Given the description of an element on the screen output the (x, y) to click on. 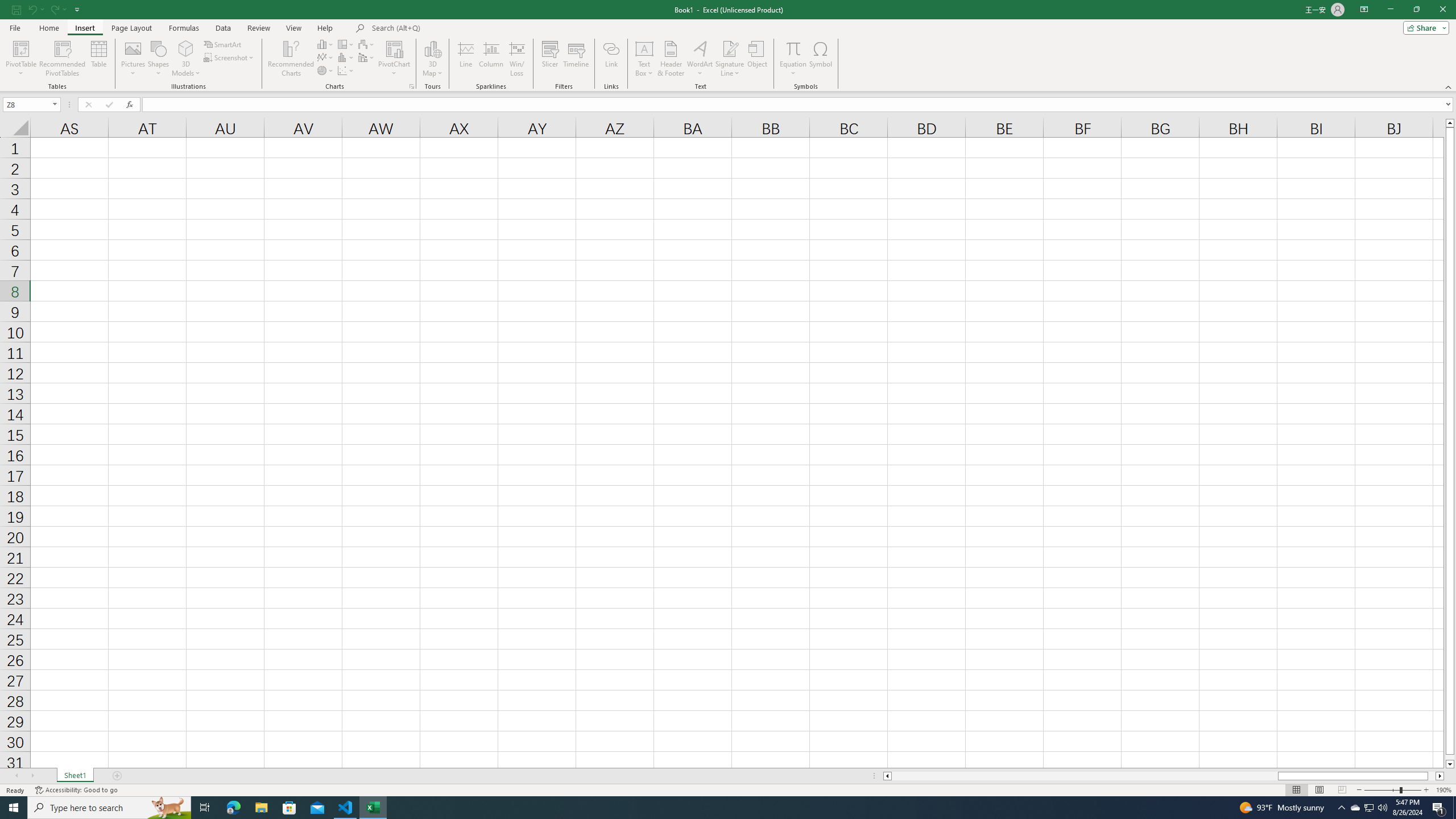
Insert Pie or Doughnut Chart (325, 69)
Win/Loss (516, 58)
Slicer... (550, 58)
Insert Waterfall, Funnel, Stock, Surface, or Radar Chart (366, 44)
3D Map (432, 58)
3D Models (186, 48)
Text Box (643, 58)
Microsoft search (450, 28)
Formula Bar (798, 104)
WordArt (699, 58)
